Given the description of an element on the screen output the (x, y) to click on. 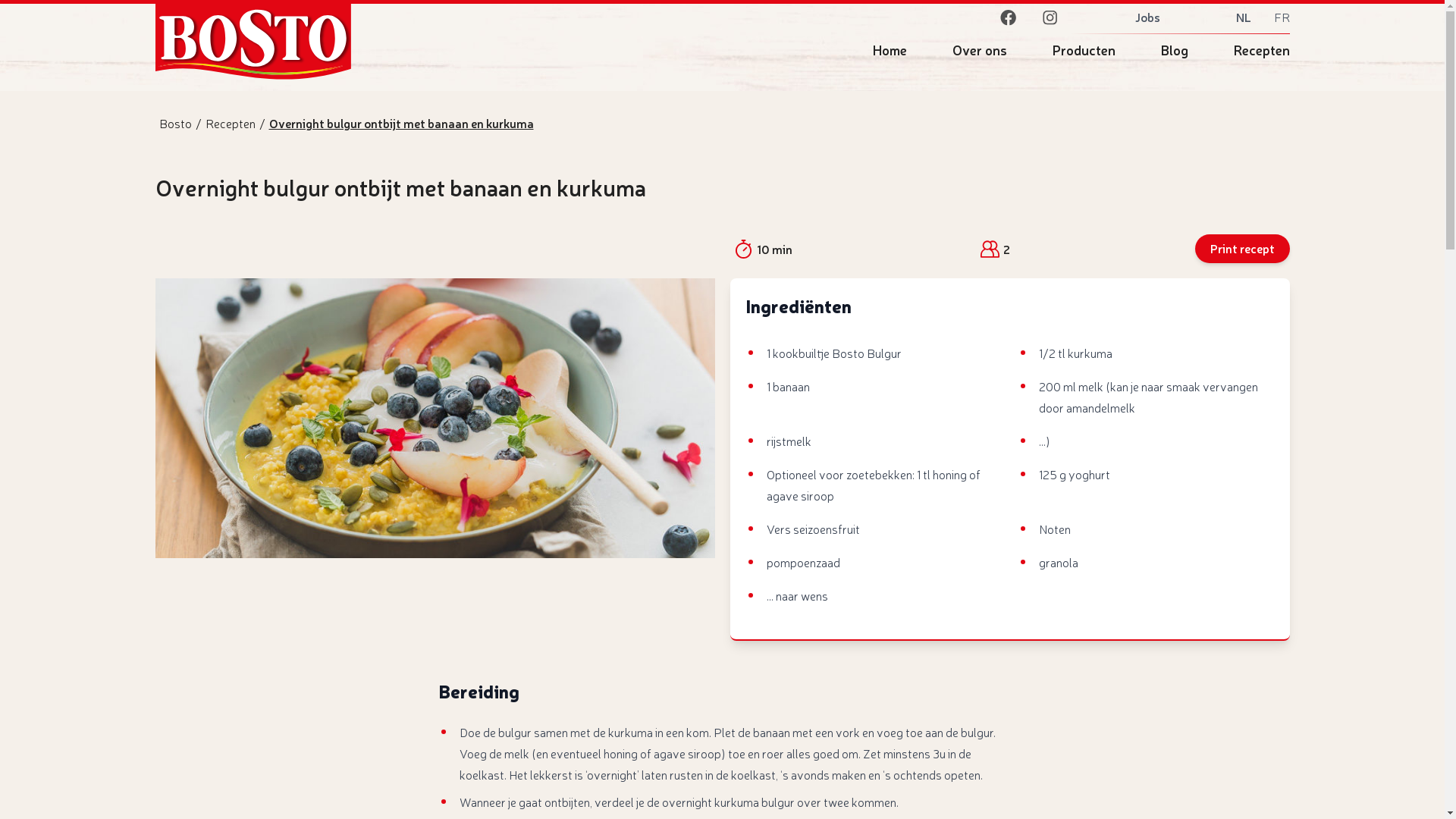
instagram Element type: text (1049, 16)
Bosto Element type: text (174, 122)
Home Element type: text (888, 49)
FR Element type: text (1281, 16)
Home Bosto Element type: hover (501, 41)
Producten Element type: text (1083, 49)
Recepten Element type: text (1253, 49)
Print recept Element type: text (1242, 248)
Blog Element type: text (1173, 49)
Recepten Element type: text (230, 122)
Over ons Element type: text (979, 49)
facebook Element type: text (1006, 16)
Jobs Element type: text (1146, 16)
